Given the description of an element on the screen output the (x, y) to click on. 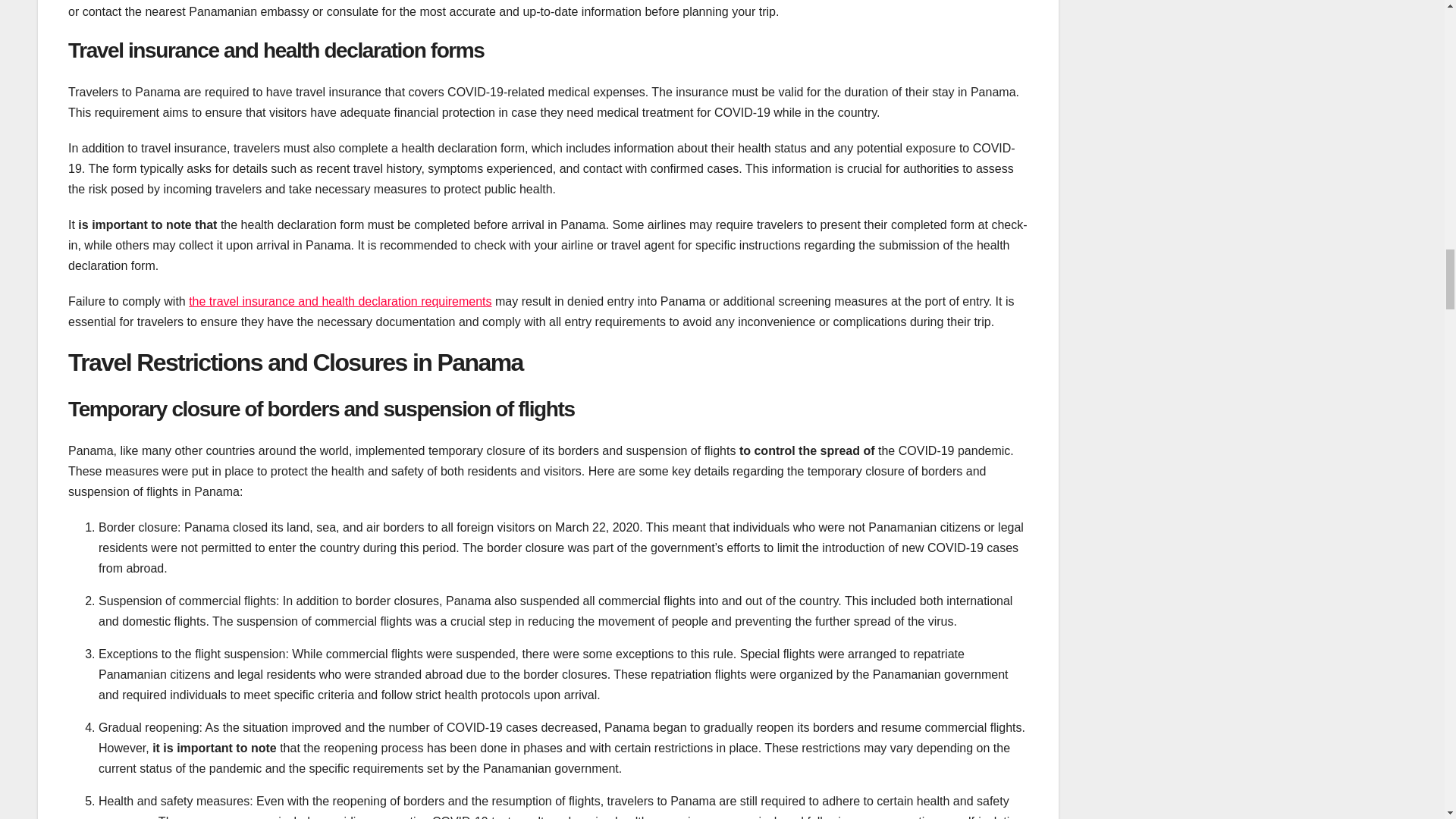
the travel insurance and health declaration requirements (340, 300)
